Given the description of an element on the screen output the (x, y) to click on. 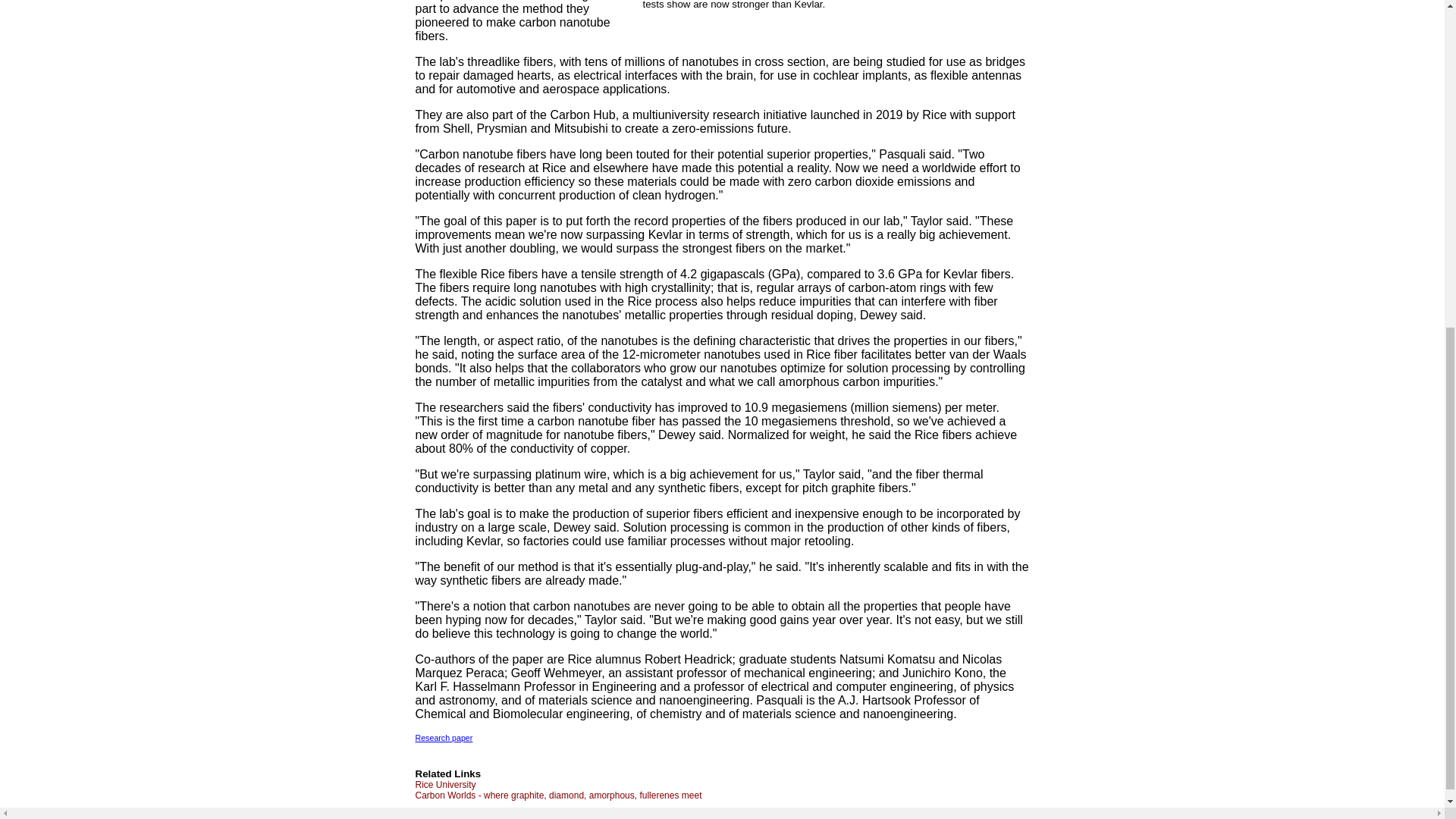
Research paper (443, 737)
Rice University (445, 784)
